Given the description of an element on the screen output the (x, y) to click on. 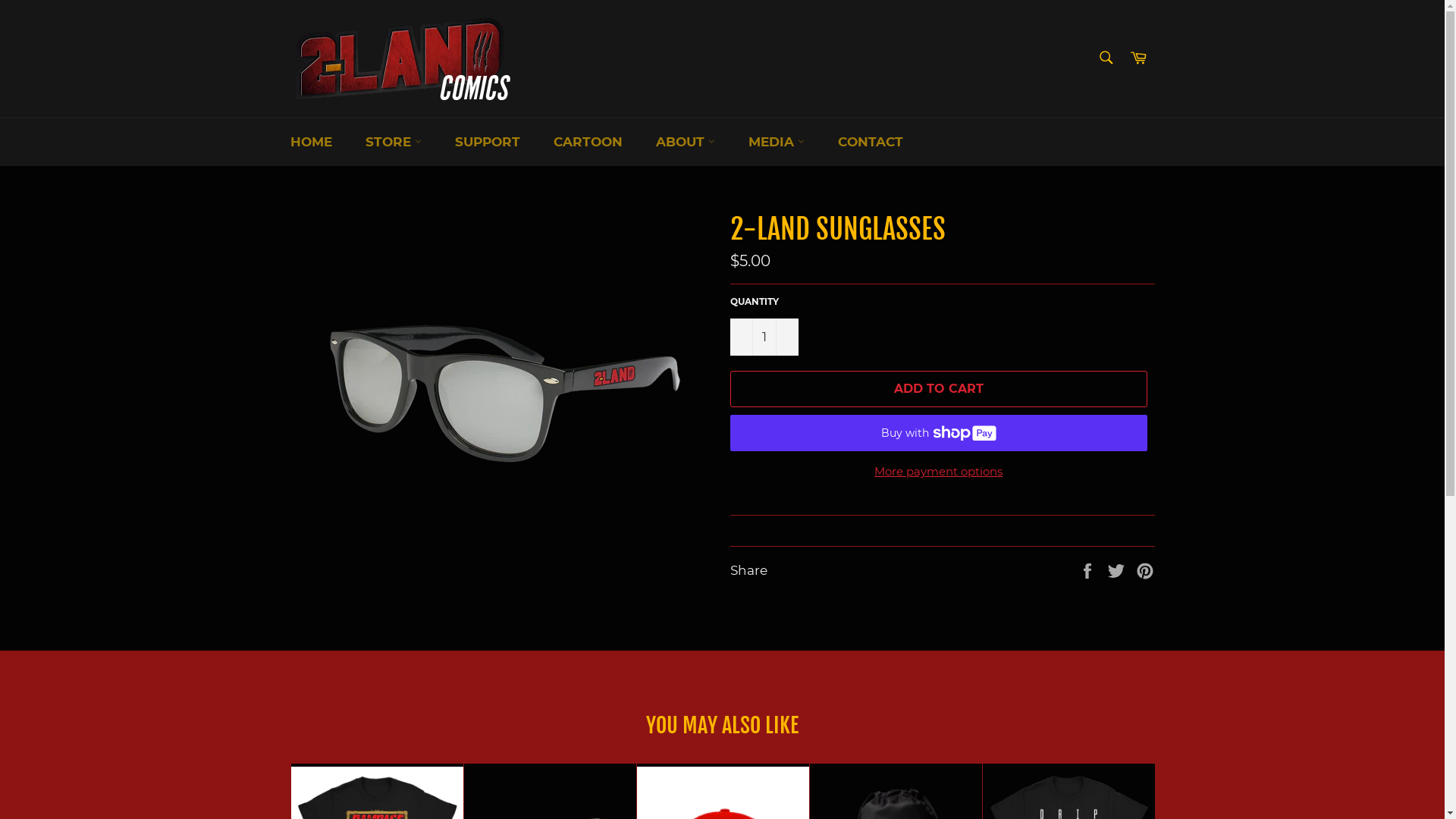
More payment options Element type: text (937, 471)
STORE Element type: text (393, 142)
Cart Element type: text (1138, 58)
Tweet on Twitter Element type: text (1117, 569)
Search Element type: text (1105, 57)
ADD TO CART Element type: text (937, 388)
HOME Element type: text (310, 142)
Pin on Pinterest Element type: text (1144, 569)
CARTOON Element type: text (587, 142)
SUPPORT Element type: text (487, 142)
ABOUT Element type: text (684, 142)
CONTACT Element type: text (869, 142)
MEDIA Element type: text (775, 142)
+ Element type: text (786, 336)
Share on Facebook Element type: text (1088, 569)
